Given the description of an element on the screen output the (x, y) to click on. 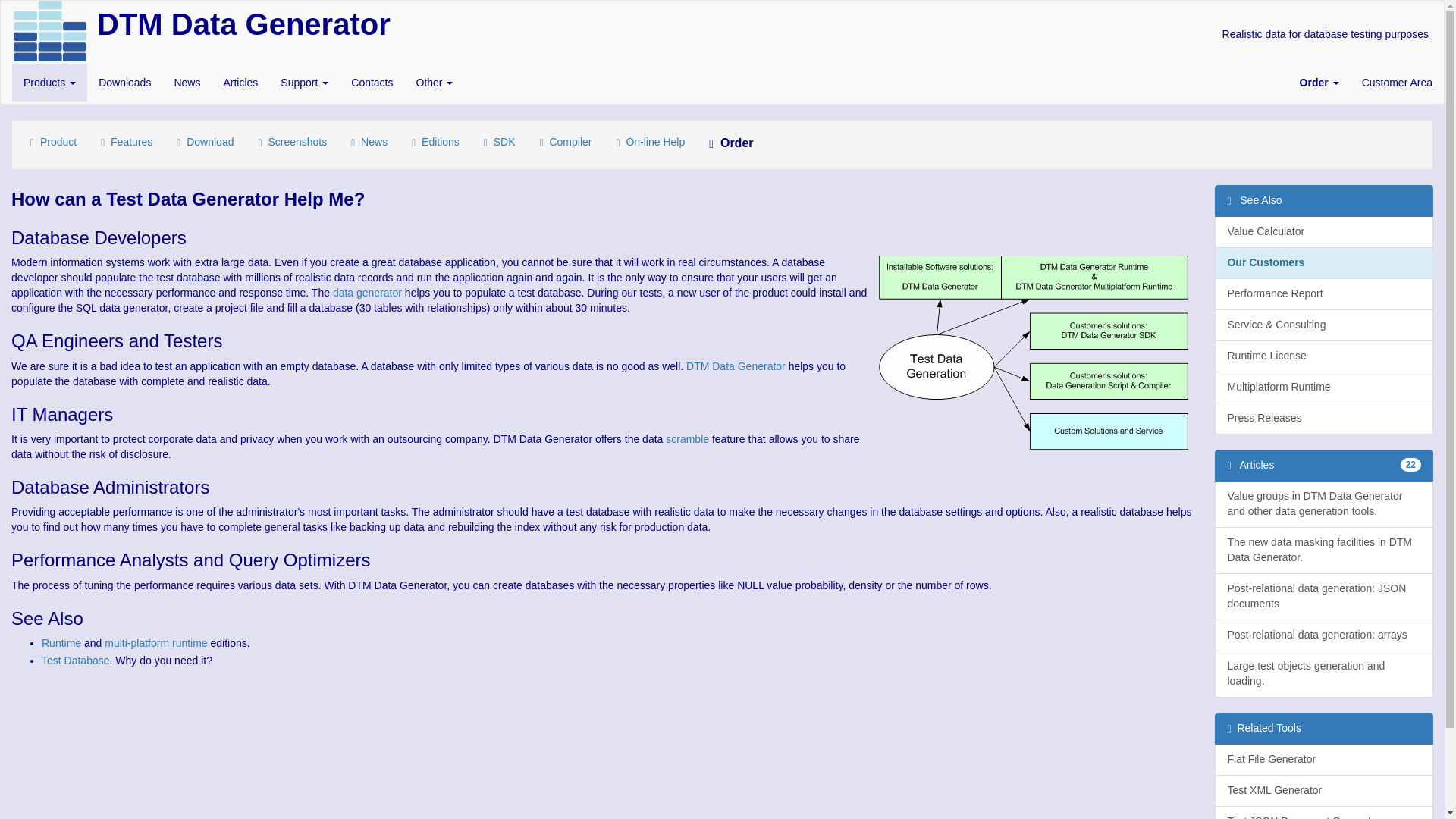
Other (434, 82)
Contacts (371, 82)
Downloads (124, 82)
Articles (240, 82)
Products (49, 82)
Support (304, 82)
Order (1319, 82)
News (186, 82)
Customer Area (1397, 82)
